Given the description of an element on the screen output the (x, y) to click on. 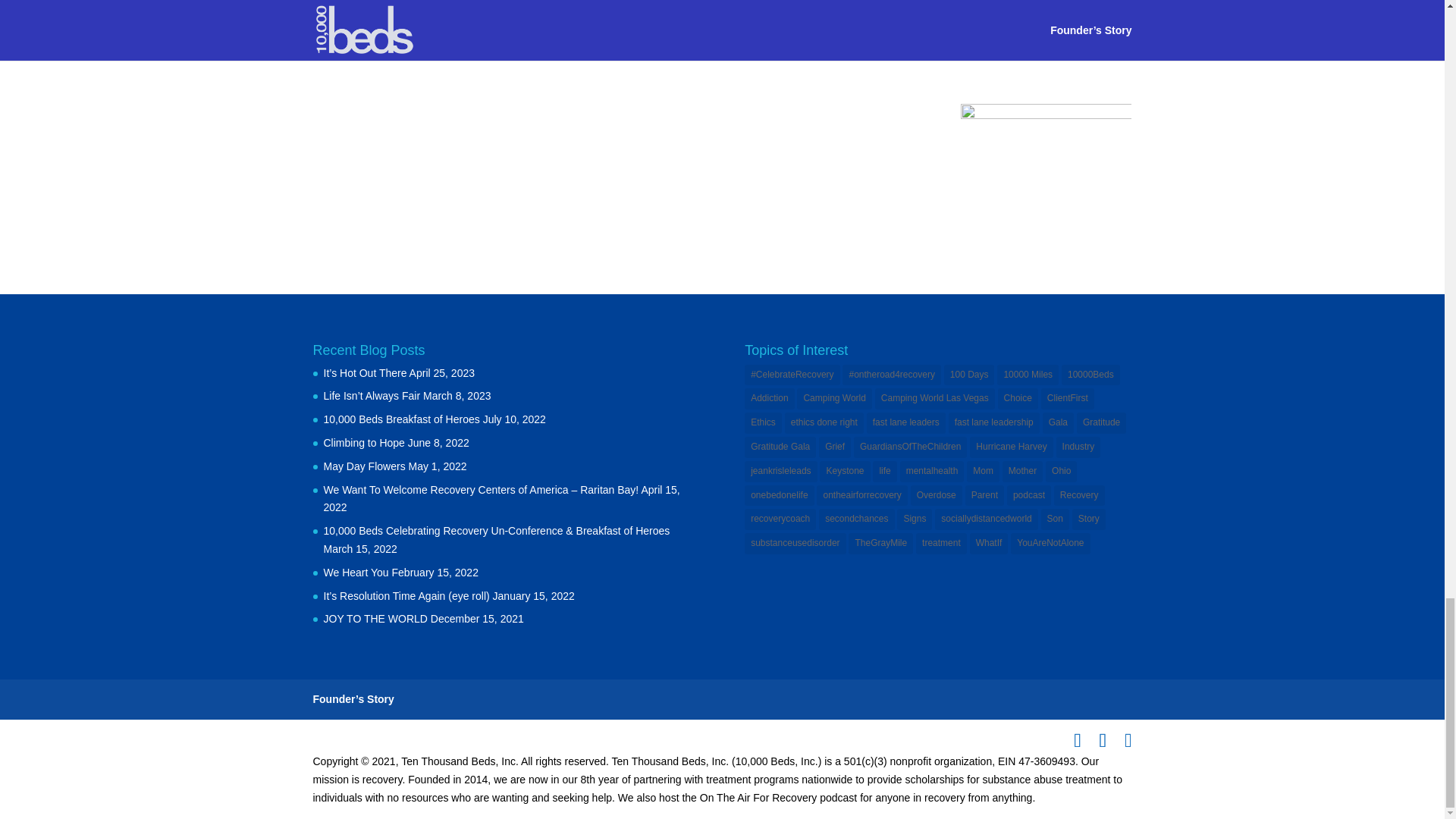
life (884, 471)
Gala (1058, 423)
Keystone (844, 471)
ClientFirst (1067, 398)
Grief (834, 446)
JOY TO THE WORLD (374, 618)
Gratitude Gala (779, 446)
10000 Miles (1027, 374)
Industry (1078, 446)
Camping World (833, 398)
